Given the description of an element on the screen output the (x, y) to click on. 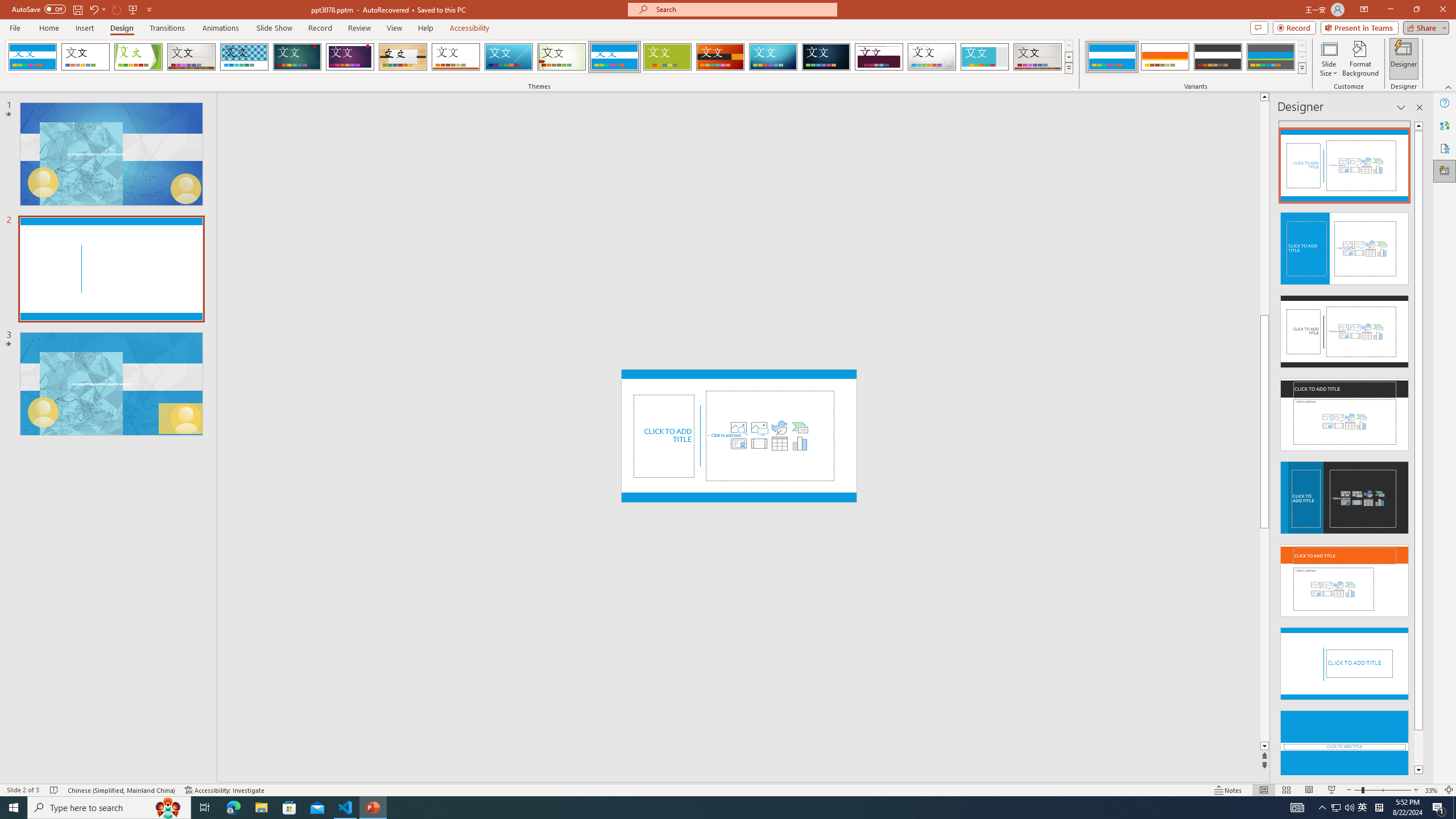
Wisp (561, 56)
Banded Variant 1 (1112, 56)
Banded Variant 3 (1217, 56)
